Given the description of an element on the screen output the (x, y) to click on. 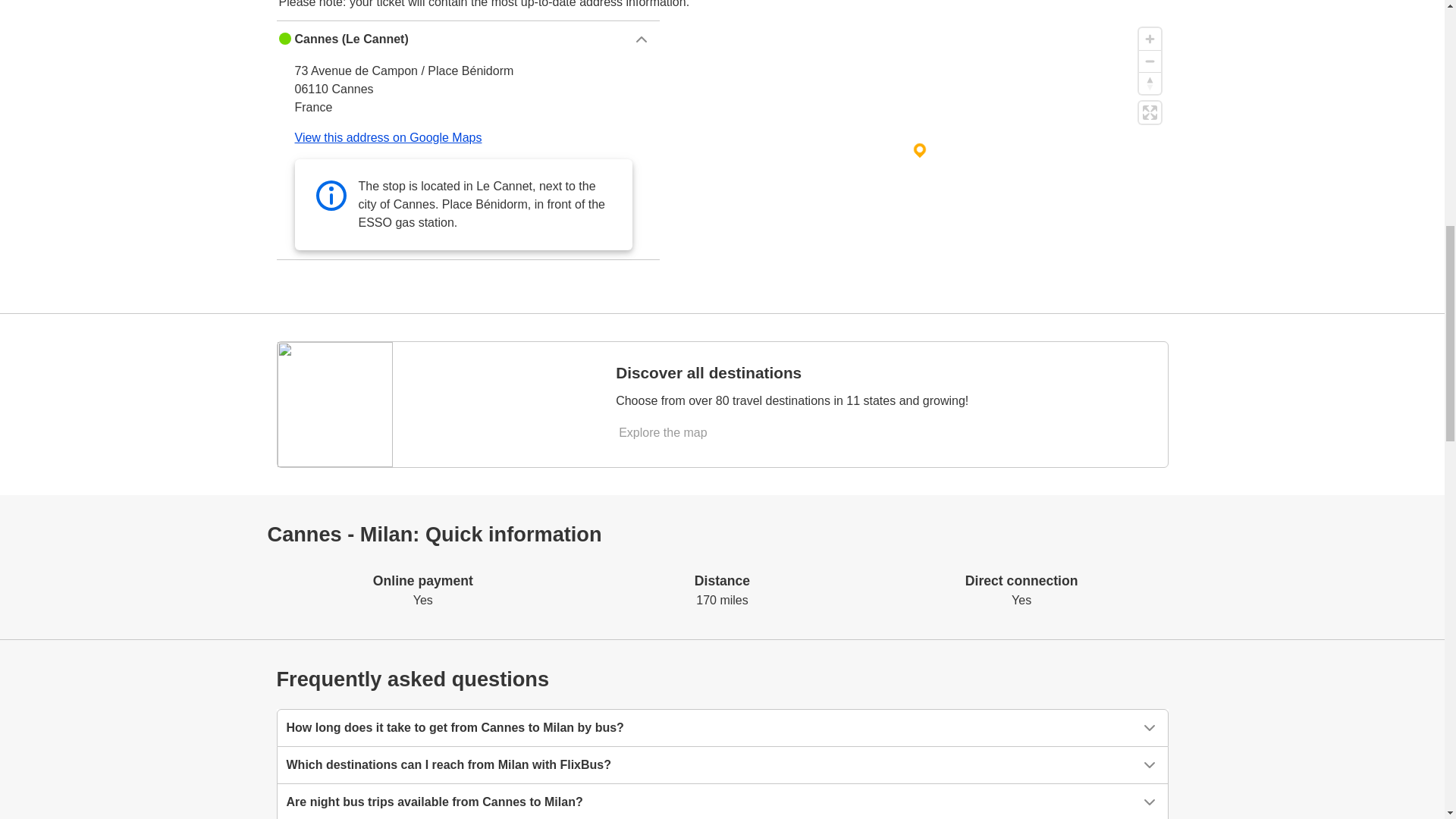
Zoom out (1149, 60)
Reset bearing to north (1149, 83)
Enter fullscreen (1149, 112)
Zoom in (1149, 38)
View this address on Google Maps (388, 137)
